Given the description of an element on the screen output the (x, y) to click on. 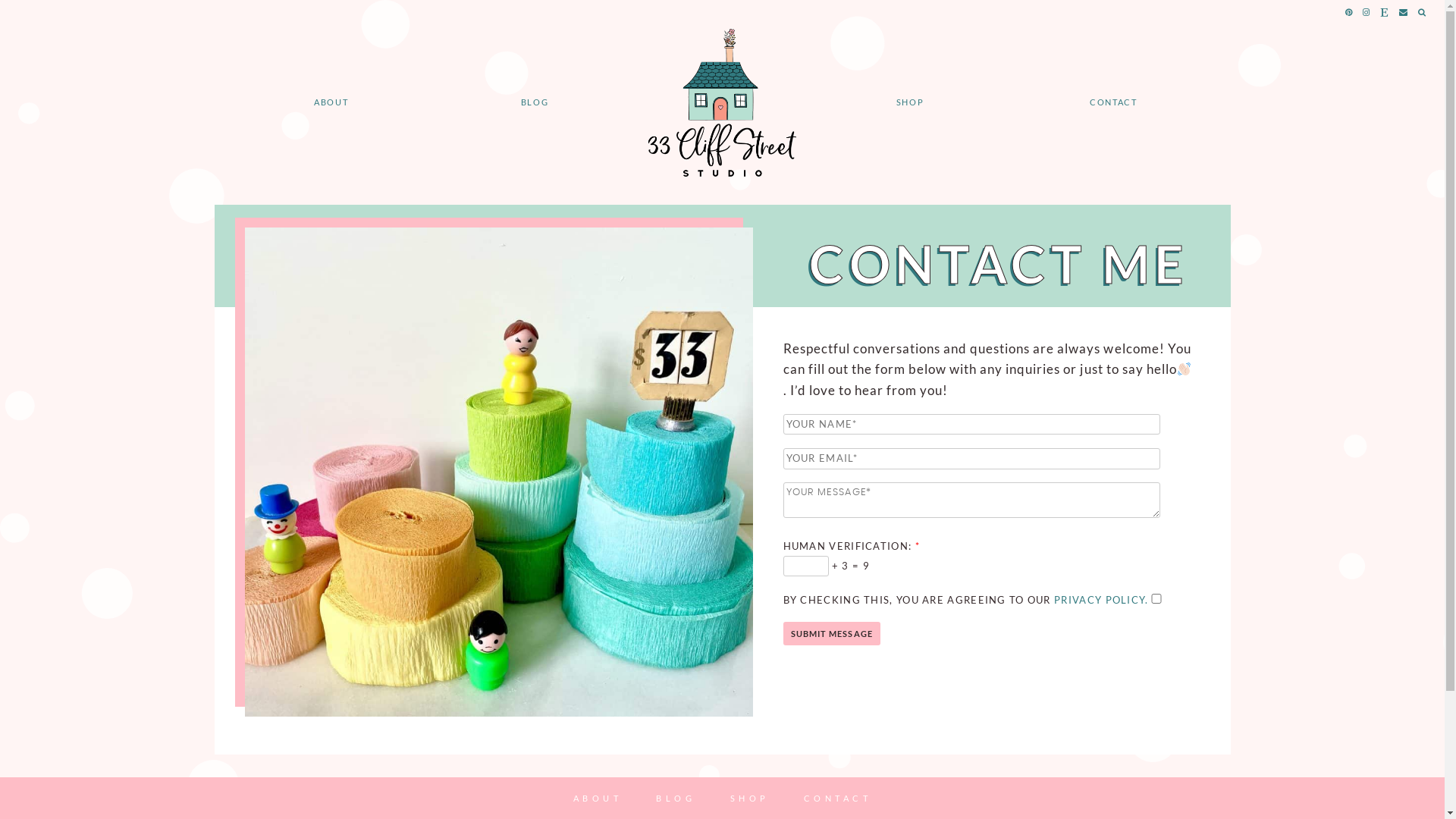
instagram icon Element type: hover (1366, 12)
ABOUT Element type: text (597, 798)
BLOG Element type: text (675, 798)
pinterest icon Element type: hover (1349, 12)
SHOP Element type: text (749, 798)
BLOG Element type: text (534, 101)
search icon Element type: hover (1422, 12)
PRIVACY POLICY. Element type: text (1101, 599)
SHOP Element type: text (910, 101)
email icon Element type: hover (1403, 12)
Submit Message Element type: text (830, 633)
CONTACT Element type: text (1113, 101)
CONTACT Element type: text (837, 798)
ABOUT Element type: text (330, 101)
etsy icon Element type: hover (1384, 12)
